Given the description of an element on the screen output the (x, y) to click on. 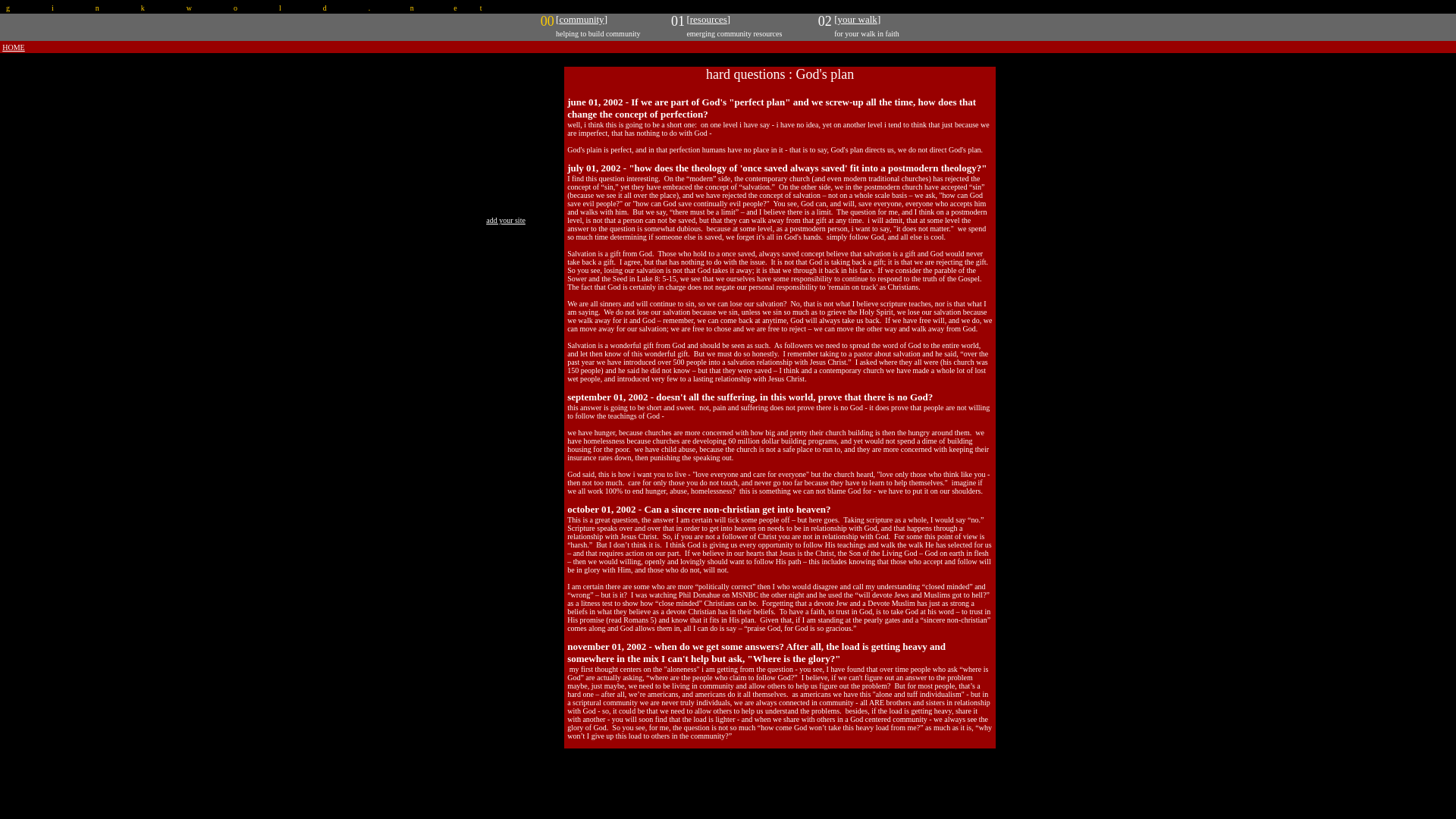
resources (708, 18)
your walk (857, 18)
add your site (505, 220)
HOME (13, 47)
community (581, 18)
